Given the description of an element on the screen output the (x, y) to click on. 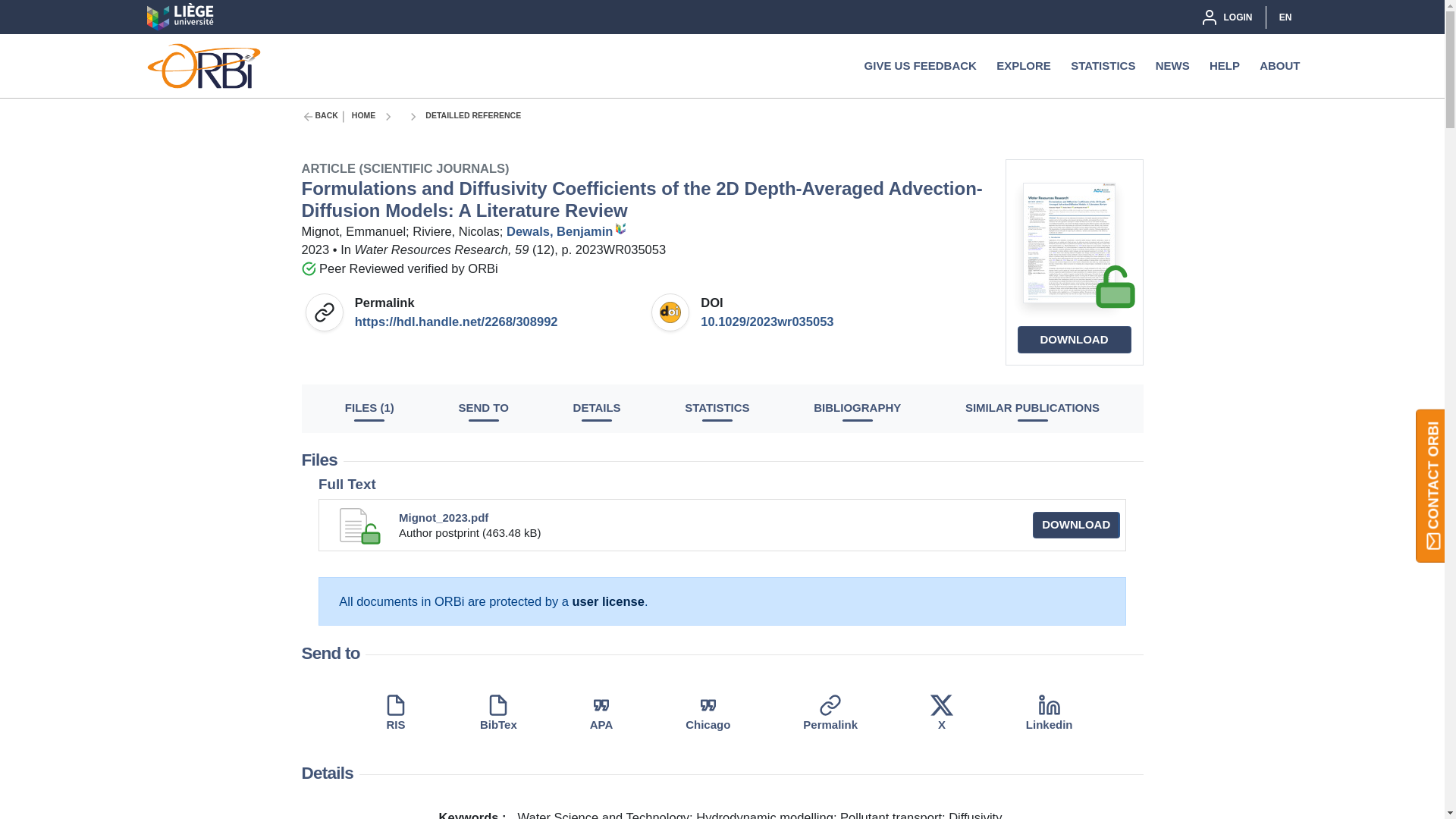
DOWNLOAD (1074, 338)
GIVE US FEEDBACK (920, 65)
Dewals, Benjamin (567, 231)
ABOUT (1279, 65)
  LOGIN (1225, 17)
BACK (326, 117)
HELP (1224, 65)
NEWS (1172, 65)
HOME (363, 117)
EXPLORE (1023, 65)
